Given the description of an element on the screen output the (x, y) to click on. 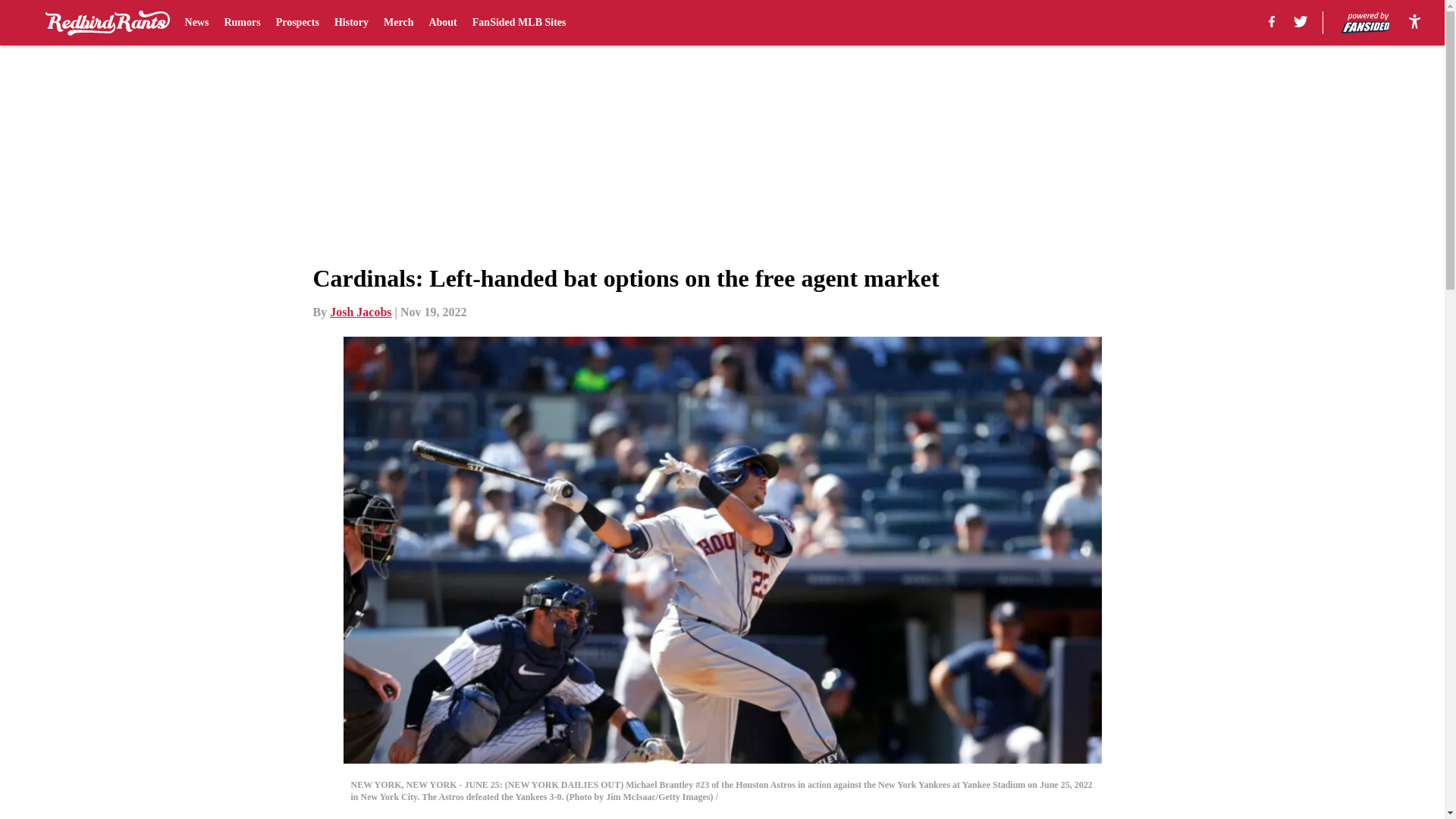
Prospects (297, 22)
Merch (398, 22)
Josh Jacobs (360, 311)
Rumors (242, 22)
News (196, 22)
About (442, 22)
History (351, 22)
FanSided MLB Sites (518, 22)
